Given the description of an element on the screen output the (x, y) to click on. 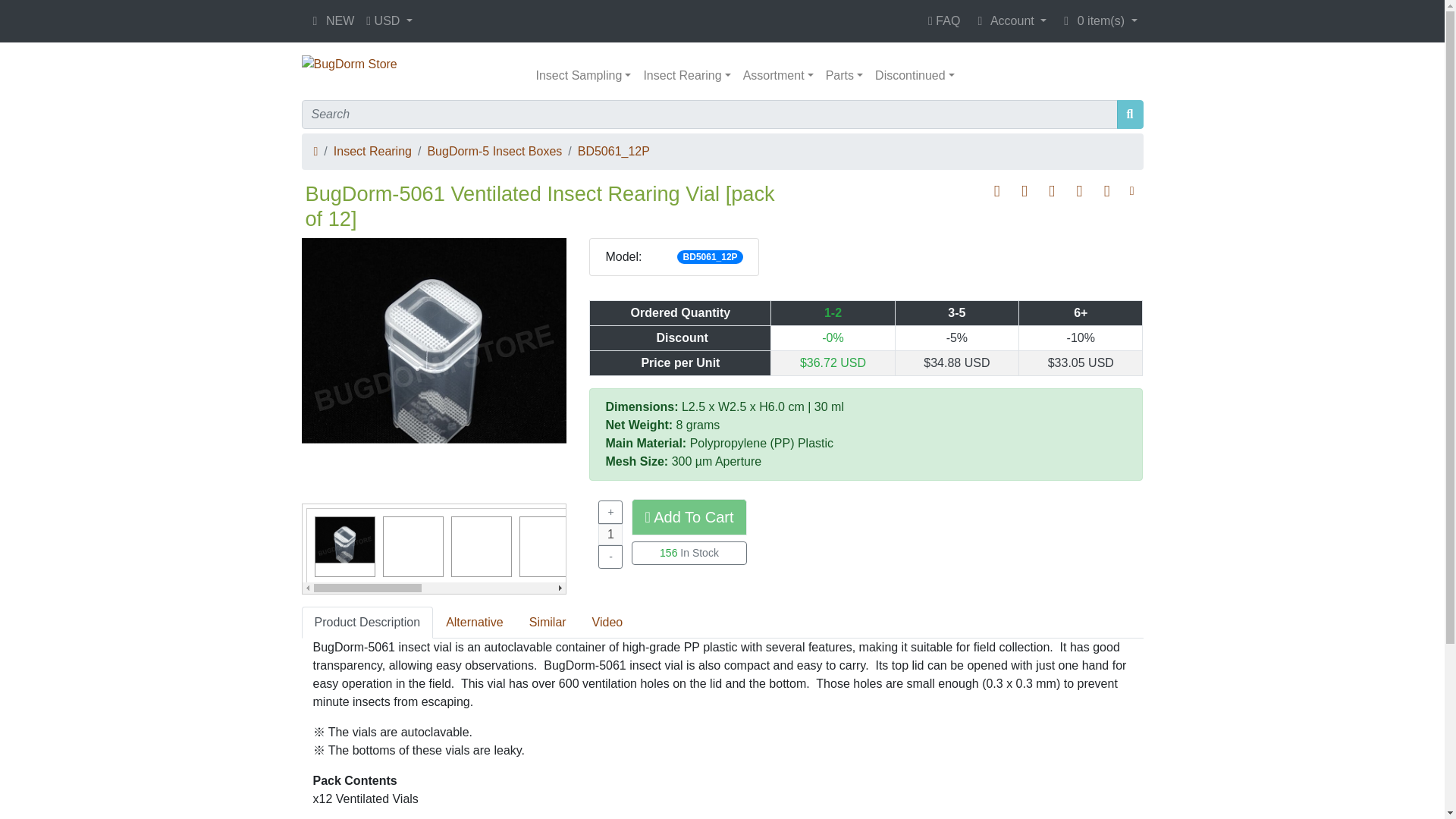
USD (389, 20)
Insect Sampling (583, 75)
Insect Rearing (686, 75)
NEW (331, 20)
Shopping Cart (1066, 21)
FAQ (943, 20)
BugDorm Store (349, 64)
Account (1009, 20)
Account (979, 21)
New Arrivals (315, 21)
